Given the description of an element on the screen output the (x, y) to click on. 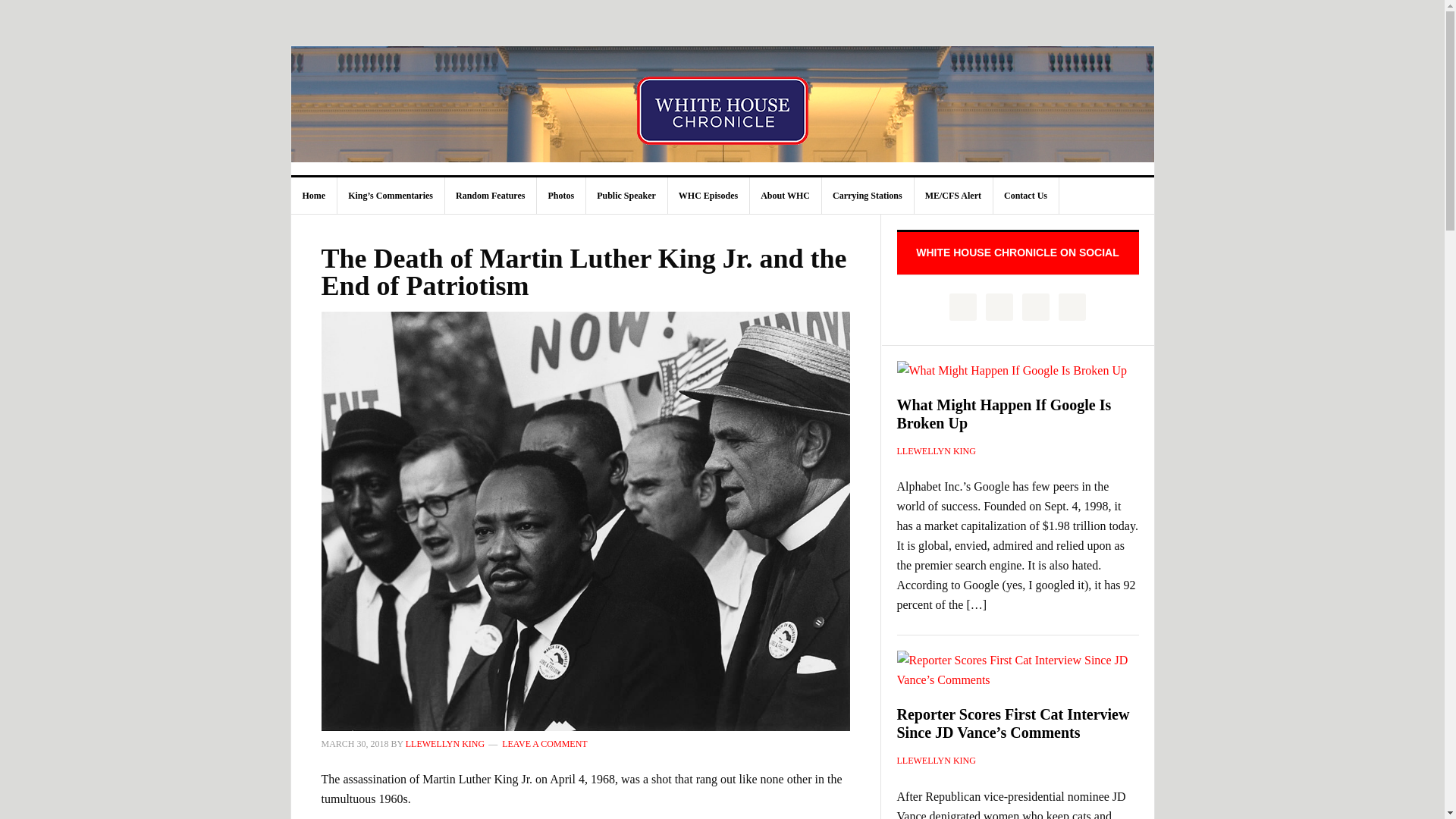
What Might Happen If Google Is Broken Up (1003, 413)
Carrying Stations (867, 195)
Contact Us (1025, 195)
Home (314, 195)
LLEWELLYN KING (935, 760)
WHITE HOUSE CHRONICLE (722, 110)
LLEWELLYN KING (445, 743)
About WHC (785, 195)
Public Speaker (626, 195)
LLEWELLYN KING (935, 450)
